Given the description of an element on the screen output the (x, y) to click on. 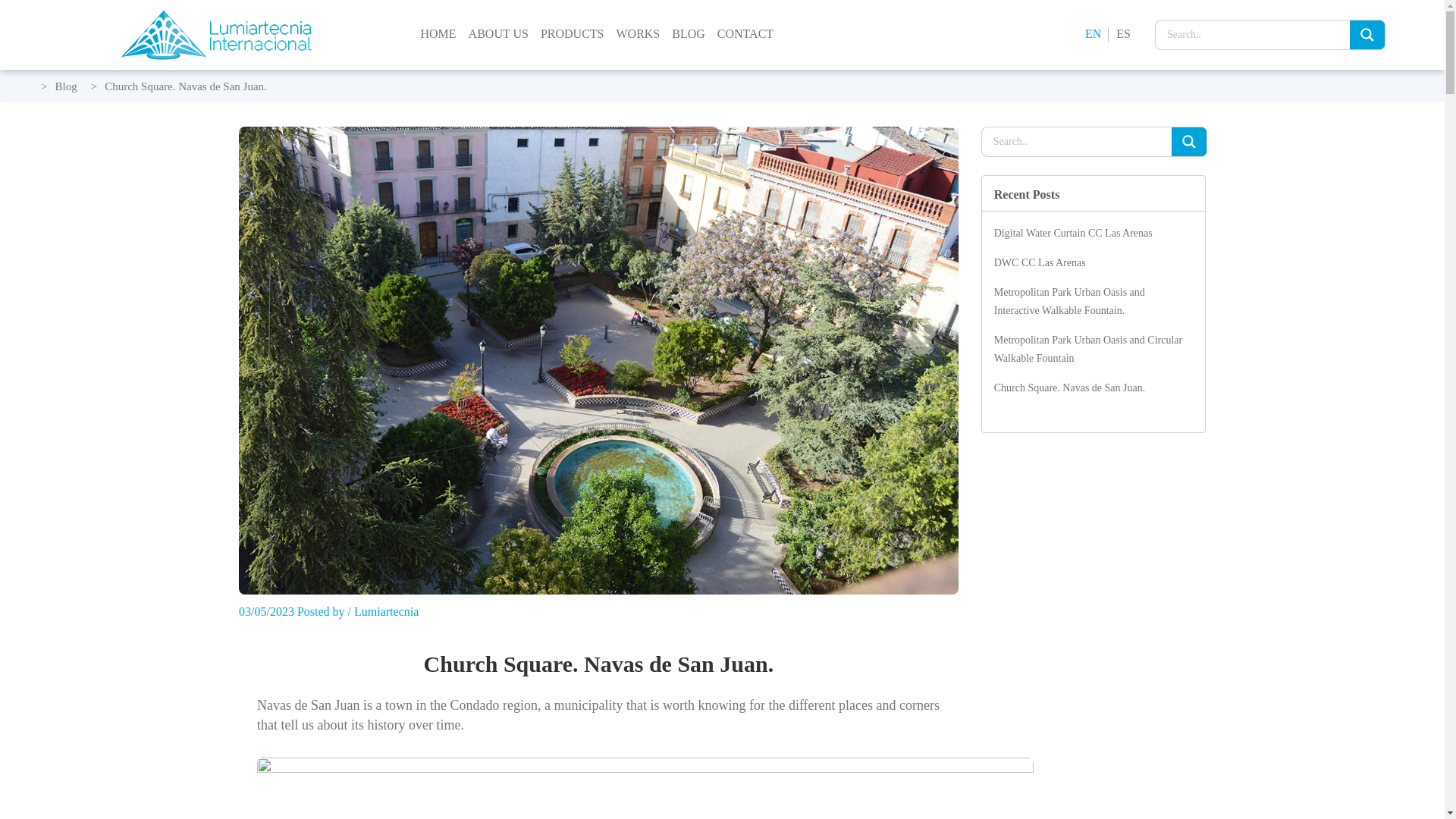
WORKS (637, 42)
PRODUCTS (572, 42)
Metropolitan Park Urban Oasis and Circular Walkable Fountain (1088, 348)
Digital Water Curtain CC Las Arenas (1073, 233)
Blog (66, 86)
Church Square. Navas de San Juan. (1069, 387)
EN (1092, 34)
Works (637, 42)
BLOG (688, 42)
